Given the description of an element on the screen output the (x, y) to click on. 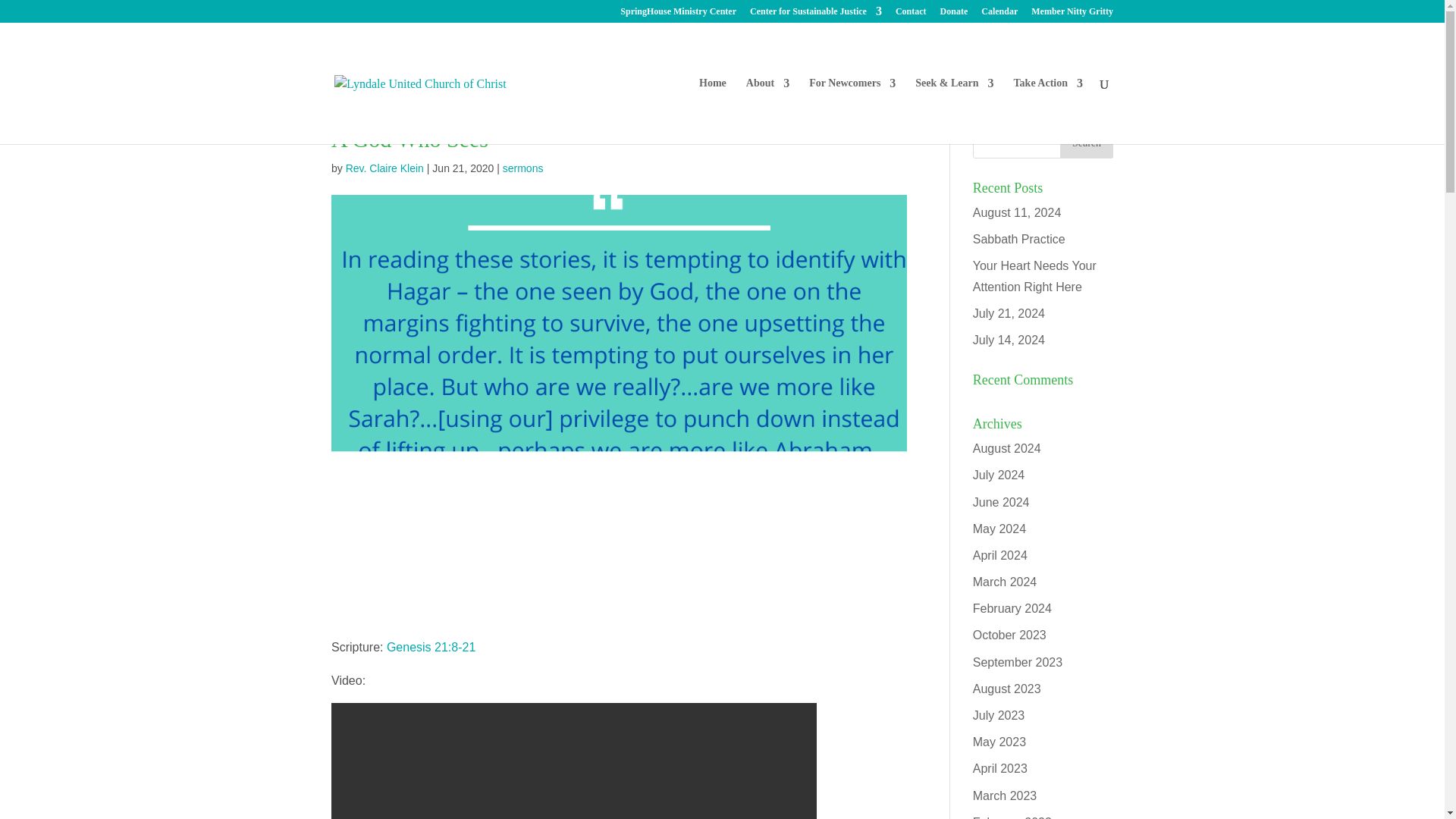
Member Nitty Gritty (1071, 14)
Donate (954, 14)
Genesis 21:8-21 (431, 646)
sermons (522, 168)
For Newcomers (852, 110)
Search (1086, 142)
SpringHouse Ministry Center (678, 14)
Rev. Claire Klein (384, 168)
Contact (910, 14)
Take Action (1048, 110)
